Given the description of an element on the screen output the (x, y) to click on. 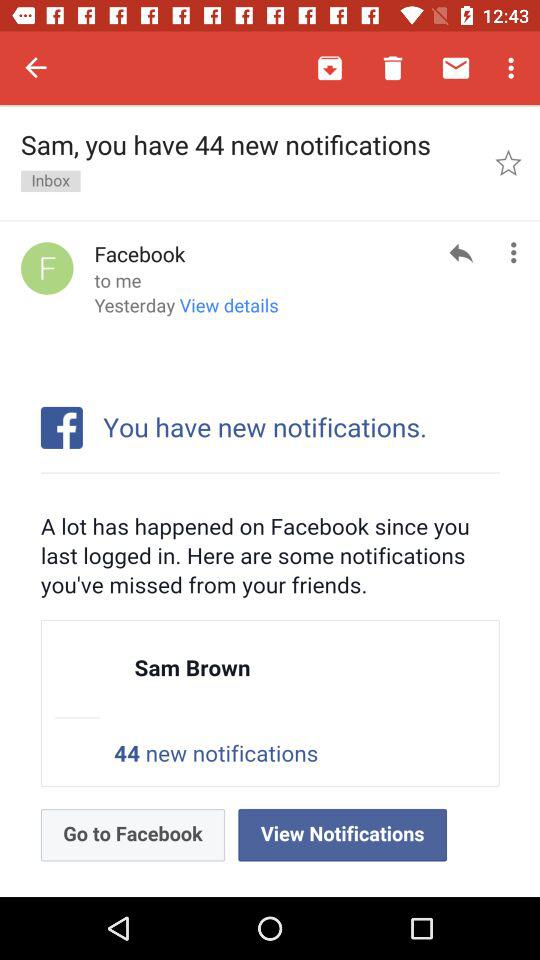
tap the item to the left of the facebook item (47, 268)
